Given the description of an element on the screen output the (x, y) to click on. 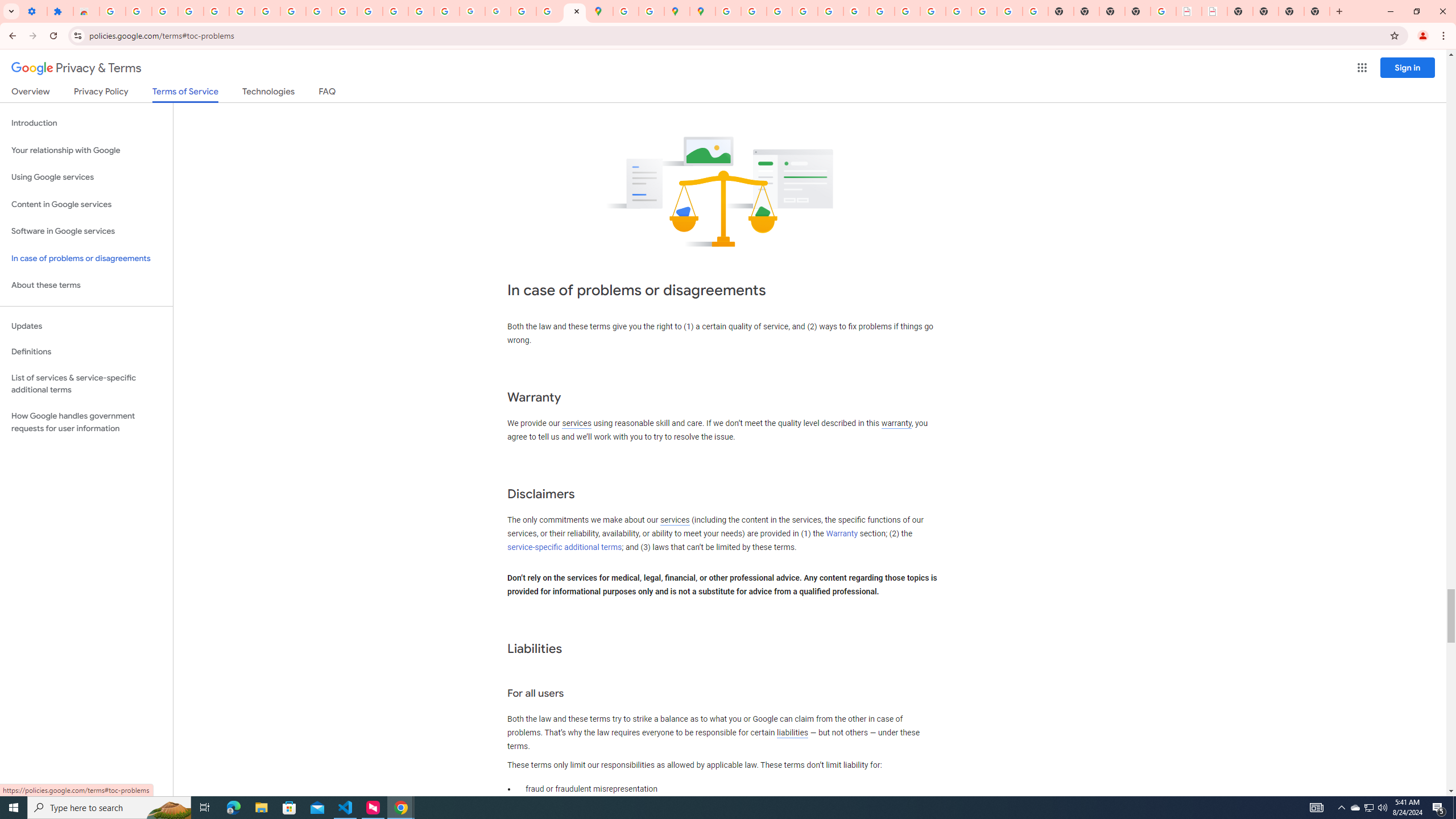
warranty (895, 423)
YouTube (881, 11)
LAAD Defence & Security 2025 | BAE Systems (1188, 11)
Google Account (293, 11)
